Given the description of an element on the screen output the (x, y) to click on. 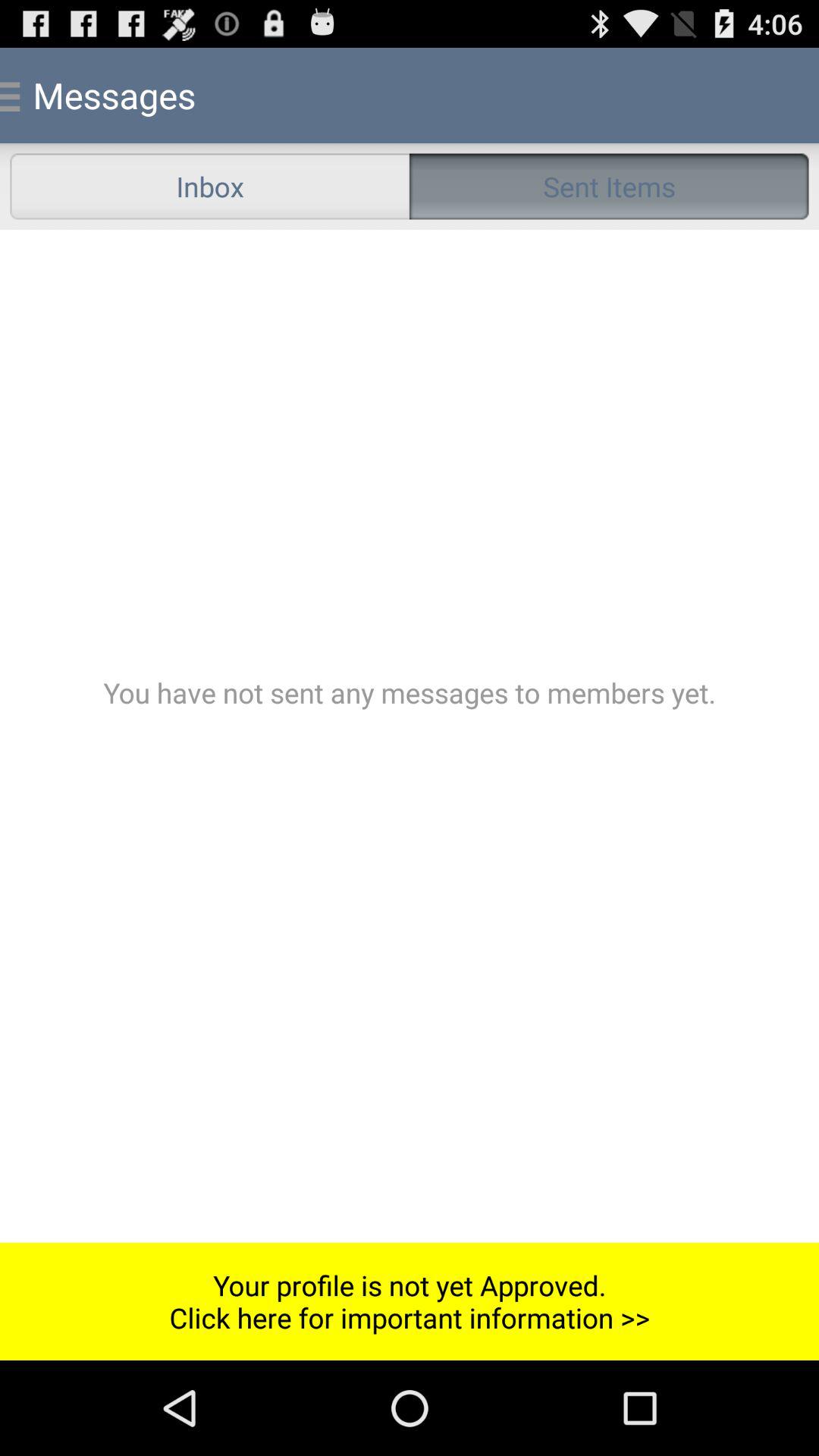
launch the item to the left of sent items item (209, 186)
